Given the description of an element on the screen output the (x, y) to click on. 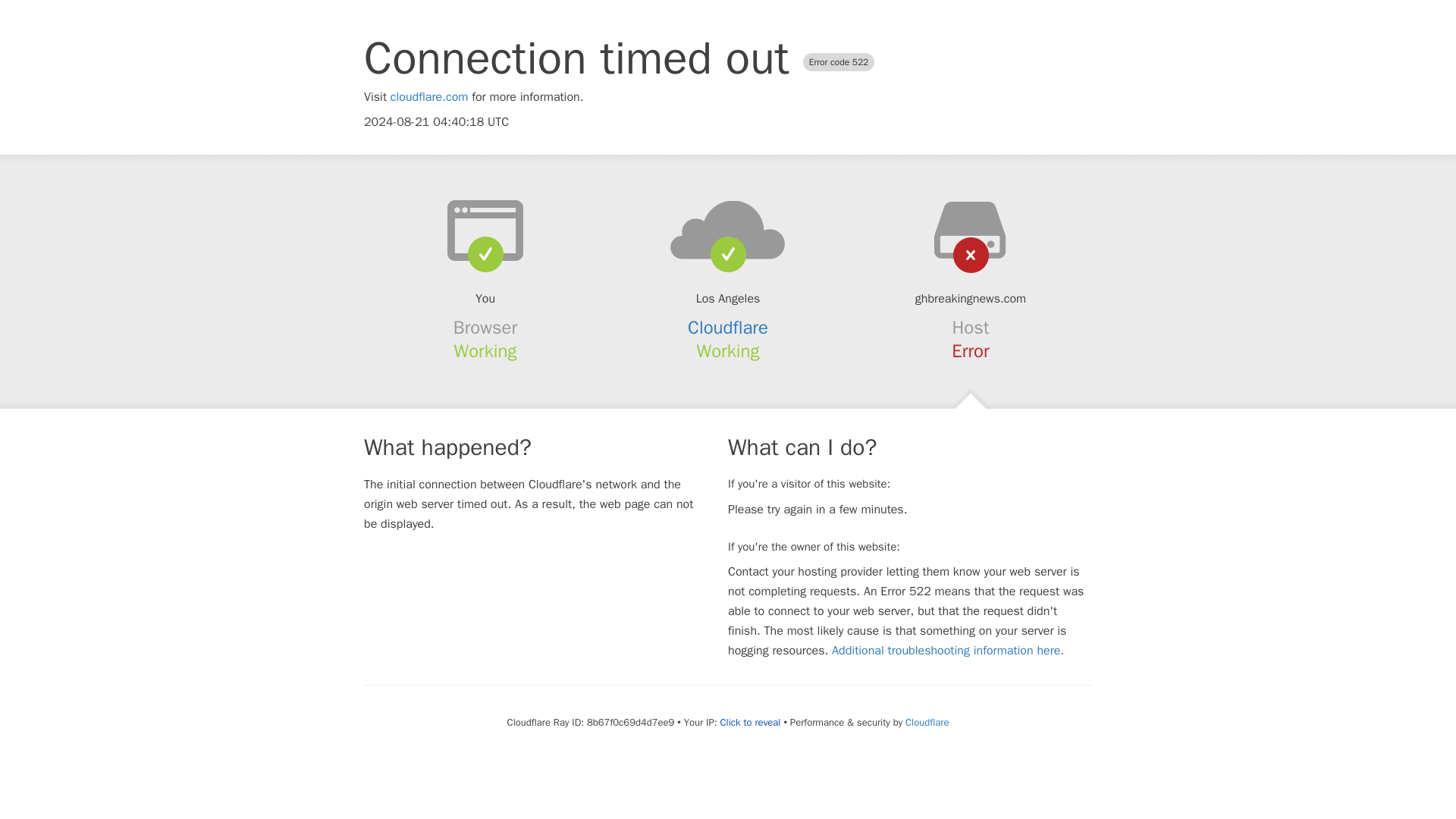
Click to reveal (750, 722)
cloudflare.com (429, 96)
Additional troubleshooting information here. (947, 650)
Cloudflare (927, 721)
Cloudflare (727, 327)
